Given the description of an element on the screen output the (x, y) to click on. 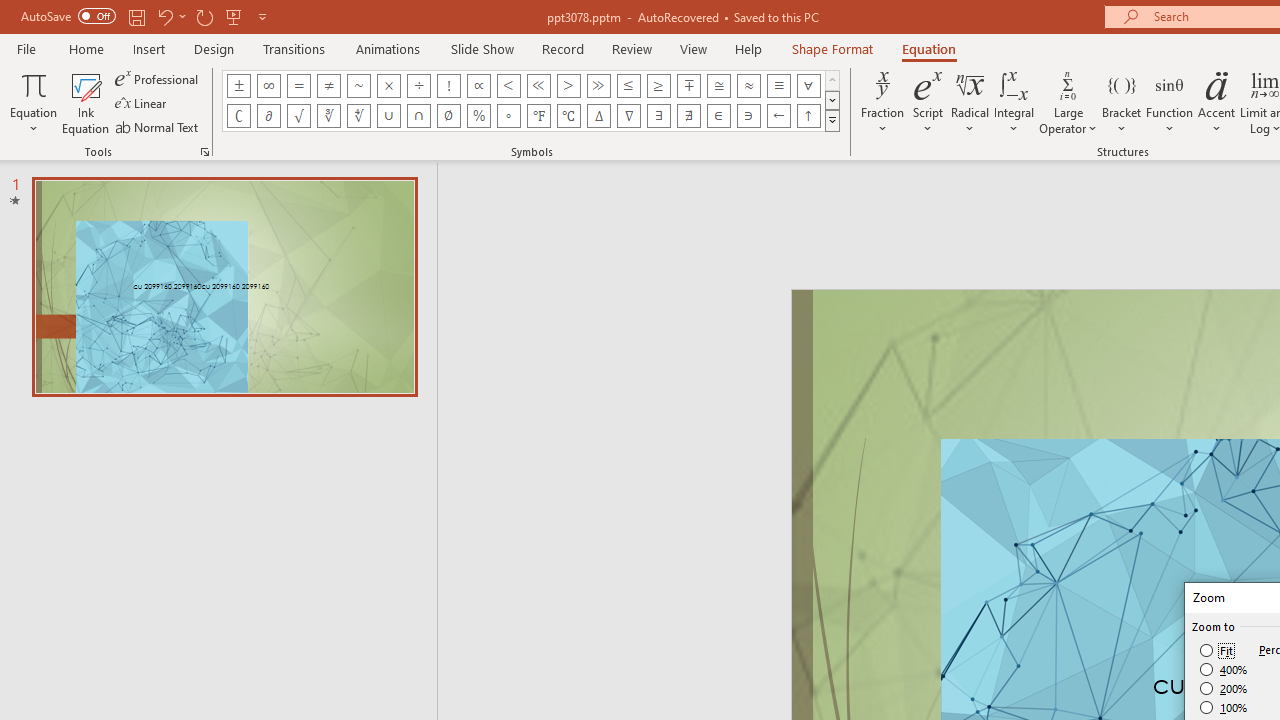
Large Operator (1067, 102)
Equation Symbol For All (808, 85)
Equation Symbol Division Sign (418, 85)
Equation Symbol Equal (298, 85)
Equation Symbol Identical To (778, 85)
100% (1224, 707)
Bracket (1121, 102)
Radical (970, 102)
Equation Symbol Percentage (478, 115)
Equation Symbol Contains as Member (748, 115)
Equation Symbol There Exists (658, 115)
AutomationID: EquationSymbolsInsertGallery (532, 100)
